Given the description of an element on the screen output the (x, y) to click on. 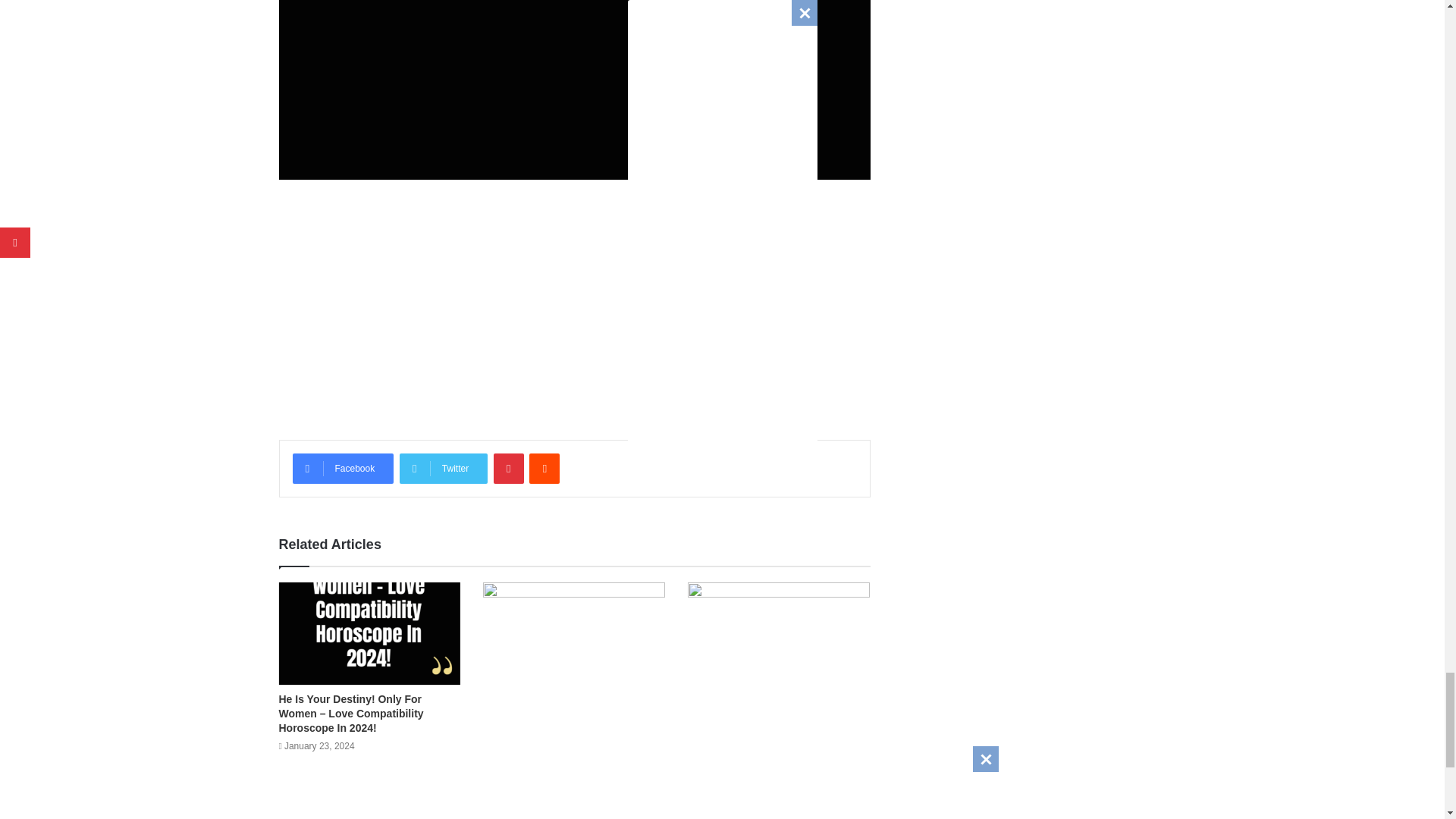
Facebook (343, 468)
Pinterest (508, 468)
Reddit (544, 468)
Twitter (442, 468)
